Given the description of an element on the screen output the (x, y) to click on. 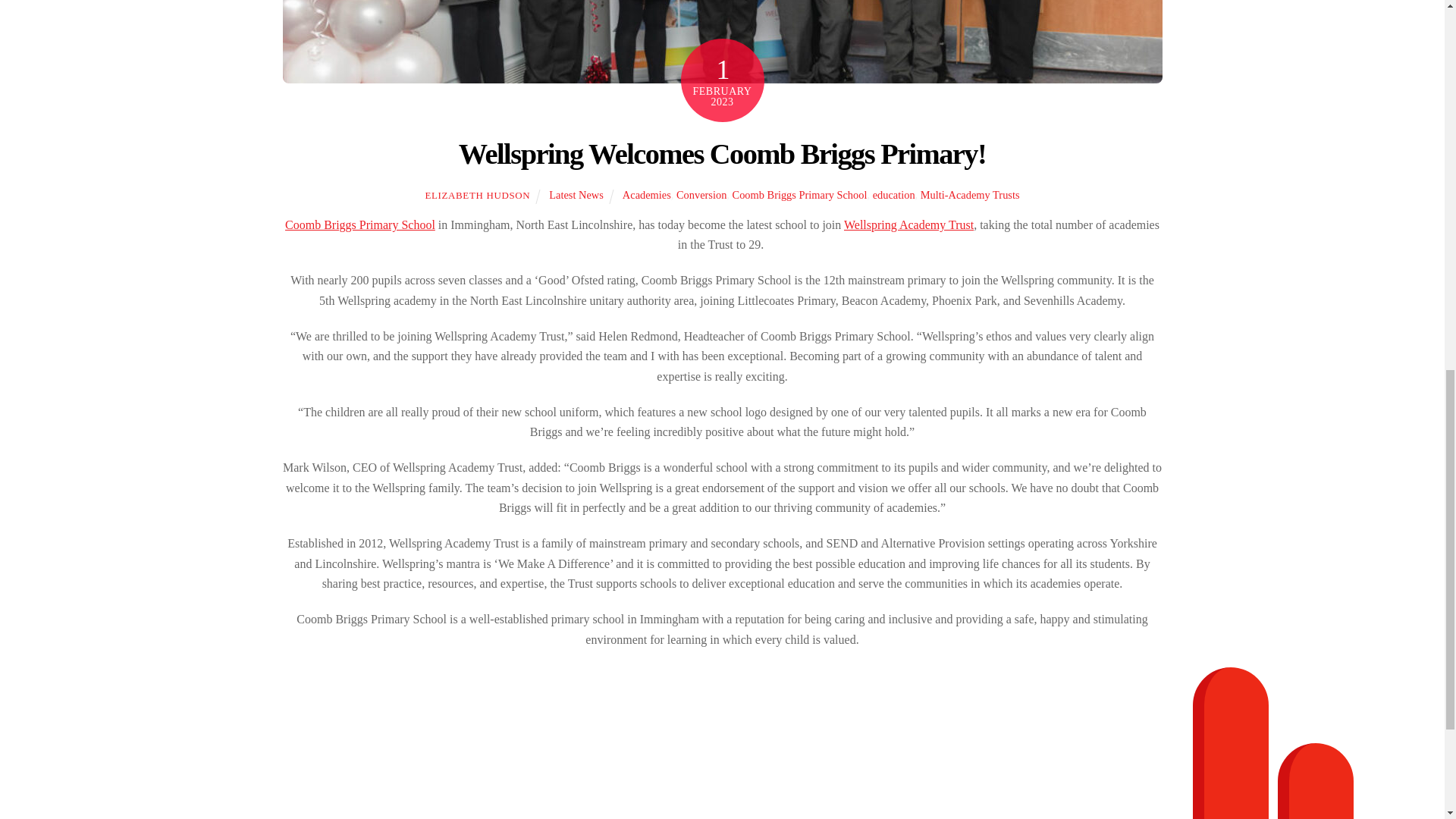
ELIZABETH HUDSON (477, 194)
Conversion Day-5 (721, 41)
Latest News (576, 194)
Wellspring Welcomes Coomb Briggs Primary! (722, 153)
